Given the description of an element on the screen output the (x, y) to click on. 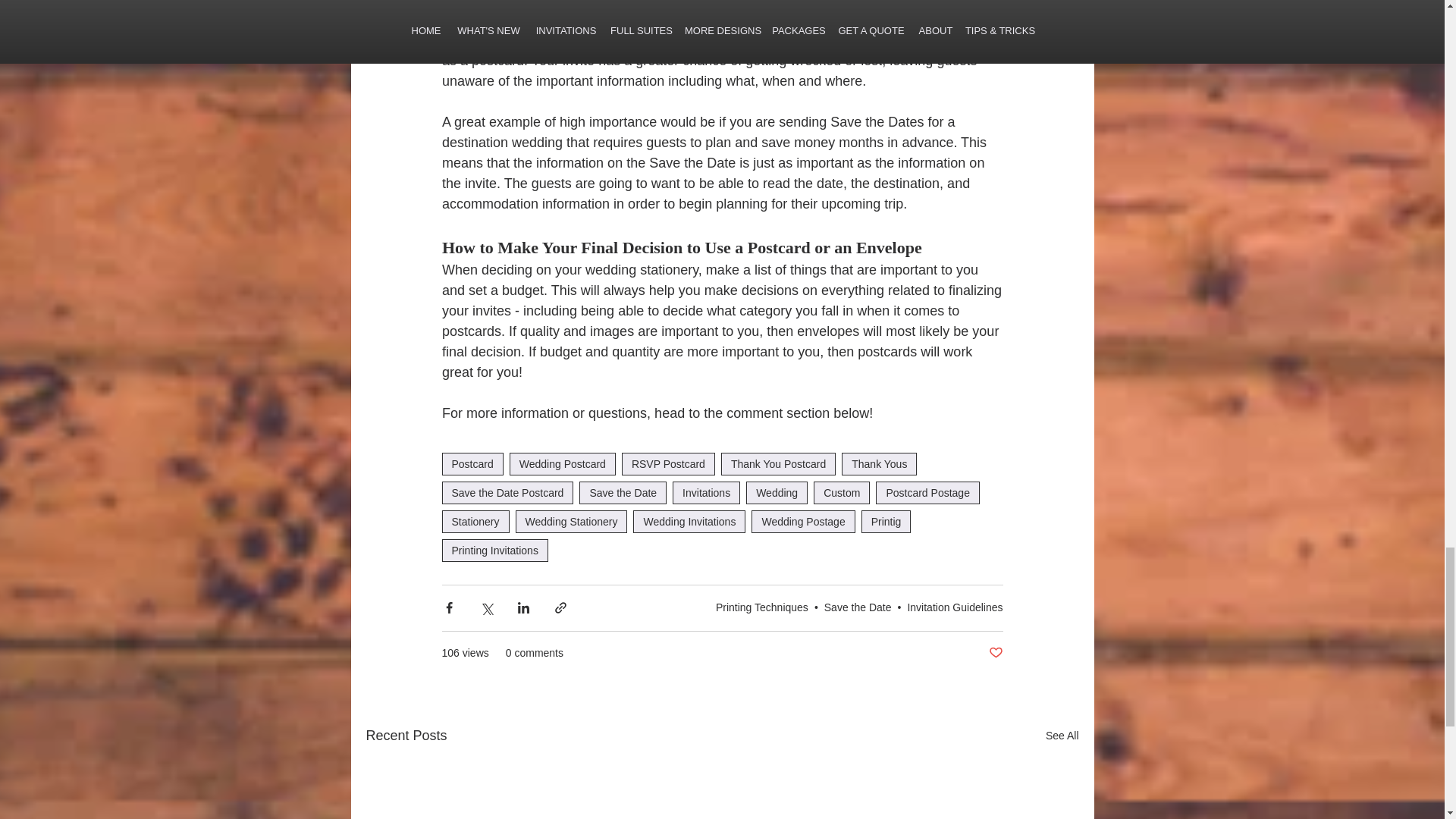
Save the Date (622, 492)
Printig (886, 521)
Wedding Stationery (571, 521)
Thank Yous (879, 463)
Stationery (474, 521)
Custom (841, 492)
Wedding Postcard (562, 463)
Thank You Postcard (777, 463)
Wedding (776, 492)
Postcard (471, 463)
